Given the description of an element on the screen output the (x, y) to click on. 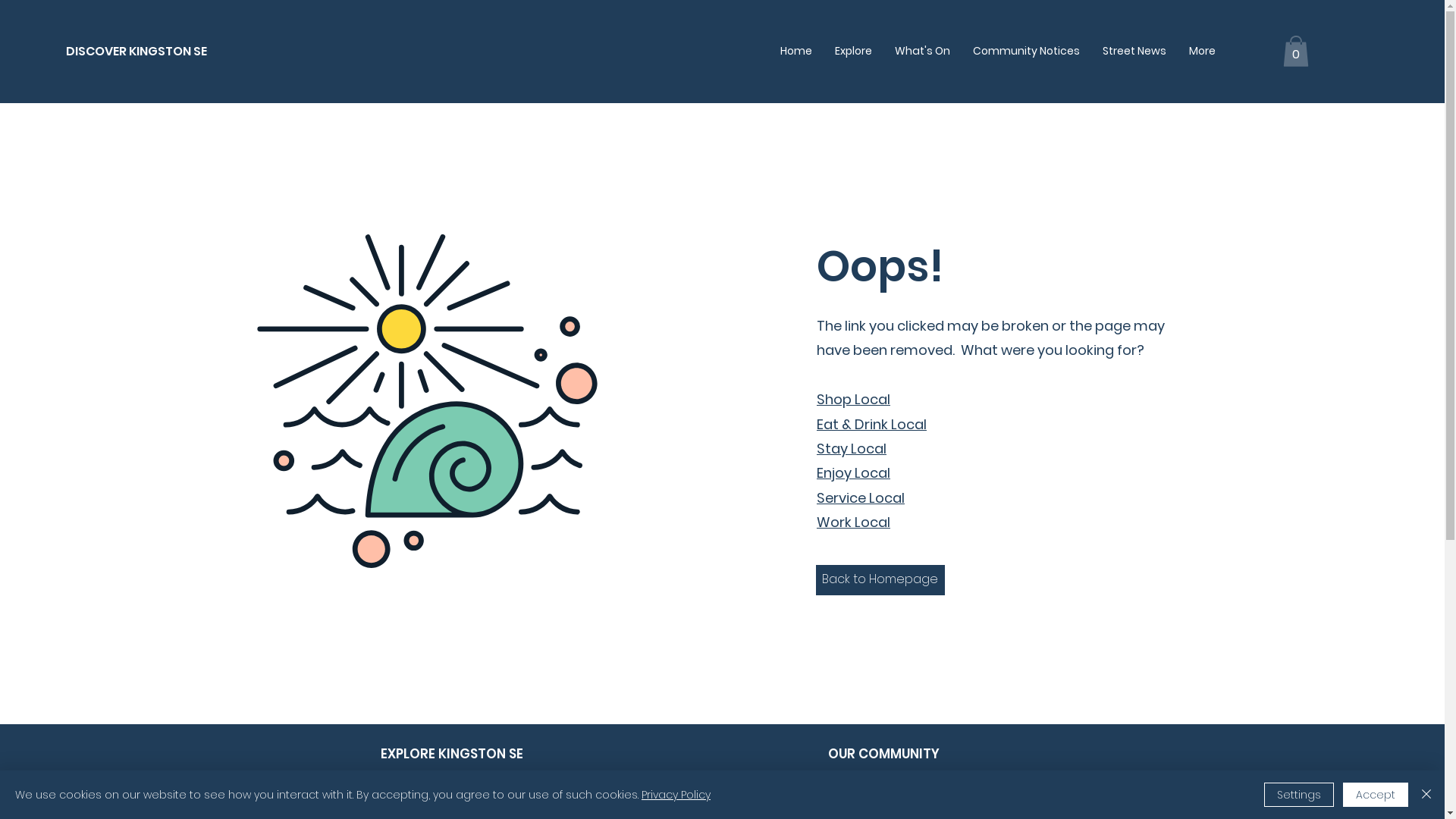
List your business Element type: text (919, 797)
Stay Local Element type: text (851, 448)
DISCOVER KINGSTON SE Element type: text (136, 50)
Eat & Drink Local Element type: text (871, 423)
Shop Local Element type: text (497, 774)
Community Notices Element type: text (1026, 50)
What's On Element type: text (922, 50)
Eat Drink Local Element type: text (497, 797)
Privacy Policy Element type: text (675, 794)
Accept Element type: text (1375, 794)
Settings Element type: text (1298, 794)
0 Element type: text (1295, 50)
Shop Local Element type: text (853, 398)
Work Local Element type: text (853, 521)
Enjoy Local Element type: text (853, 472)
Back to Homepage Element type: text (879, 579)
Street News Element type: text (1134, 50)
About Discover Kingston SE Element type: text (919, 774)
Service Local Element type: text (860, 497)
Home Element type: text (795, 50)
